Given the description of an element on the screen output the (x, y) to click on. 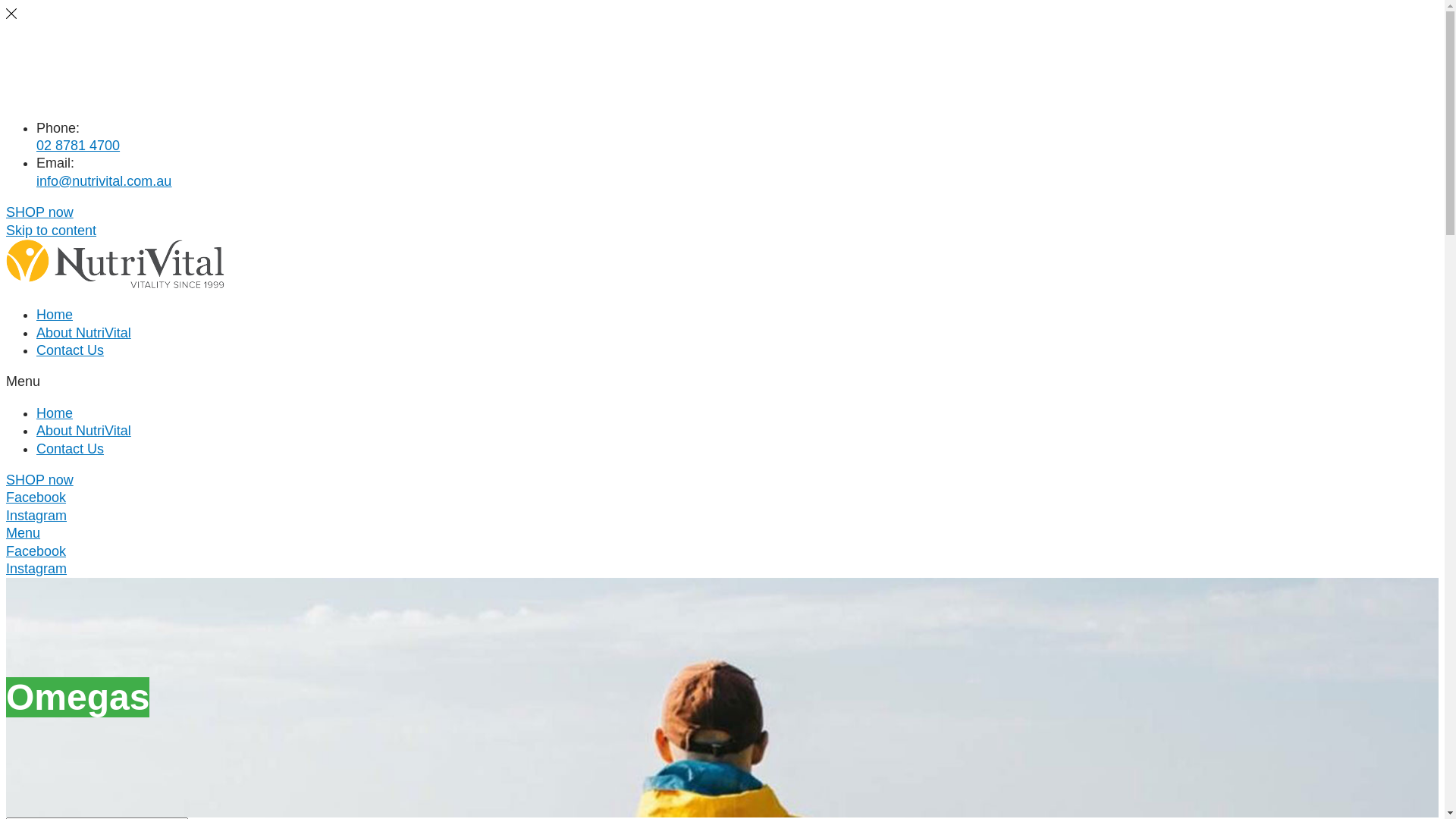
Instagram Element type: text (36, 568)
SHOP now Element type: text (39, 479)
Home Element type: text (54, 314)
Contact Us Element type: text (69, 349)
Home Element type: text (54, 45)
Instagram Element type: text (36, 515)
info@nutrivital.com.au Element type: text (103, 180)
Contact Us Element type: text (69, 95)
SHOP now Element type: text (39, 211)
About NutriVital Element type: text (83, 430)
About NutriVital Element type: text (83, 70)
Menu Element type: text (23, 532)
Home Element type: text (54, 412)
Facebook Element type: text (35, 497)
Contact Us Element type: text (69, 448)
02 8781 4700 Element type: text (77, 145)
About NutriVital Element type: text (83, 332)
Skip to content Element type: text (51, 230)
Facebook Element type: text (35, 550)
